Given the description of an element on the screen output the (x, y) to click on. 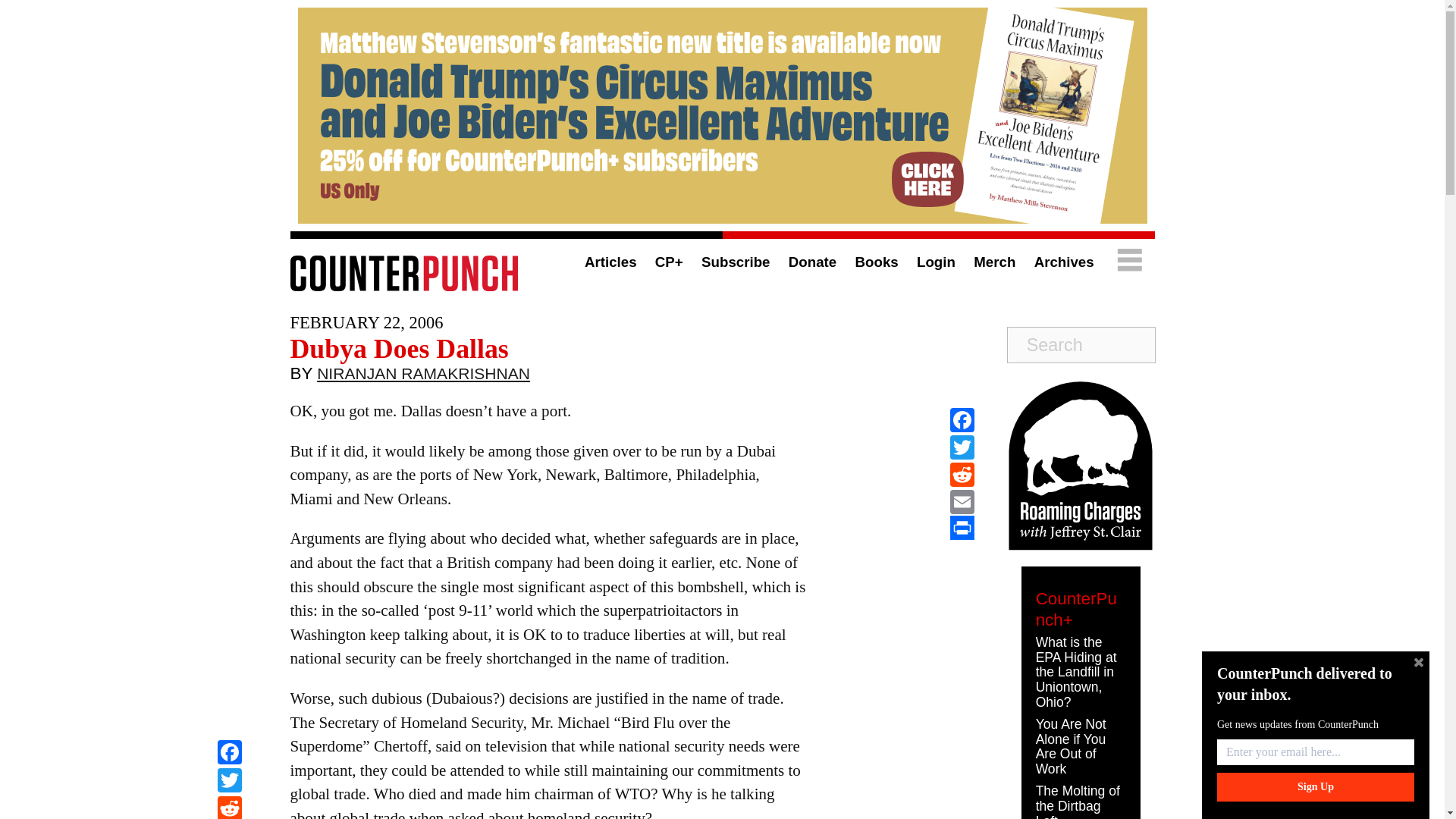
Login (936, 261)
Books (877, 261)
Sign Up (1315, 787)
Facebook (962, 420)
2006-02-22 (365, 322)
Archives (1063, 261)
Subscribe (735, 261)
What is the EPA Hiding at the Landfill in Uniontown, Ohio? (1075, 672)
NIRANJAN RAMAKRISHNAN (423, 376)
Facebook (229, 754)
Merch (994, 261)
Reddit (229, 807)
Email (962, 501)
Print This Post (962, 527)
Donate (812, 261)
